Given the description of an element on the screen output the (x, y) to click on. 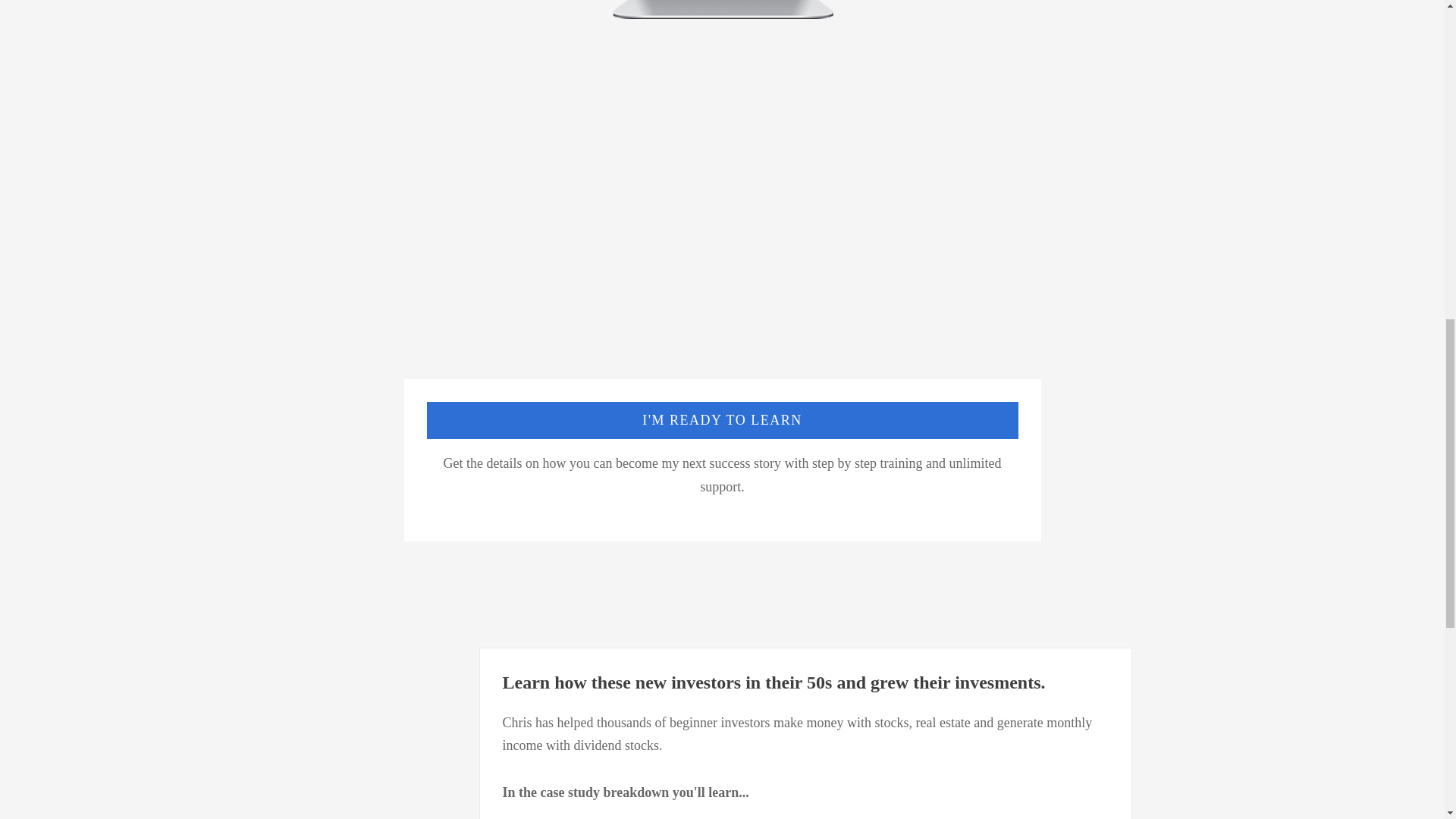
I'M READY TO LEARN (721, 420)
